Given the description of an element on the screen output the (x, y) to click on. 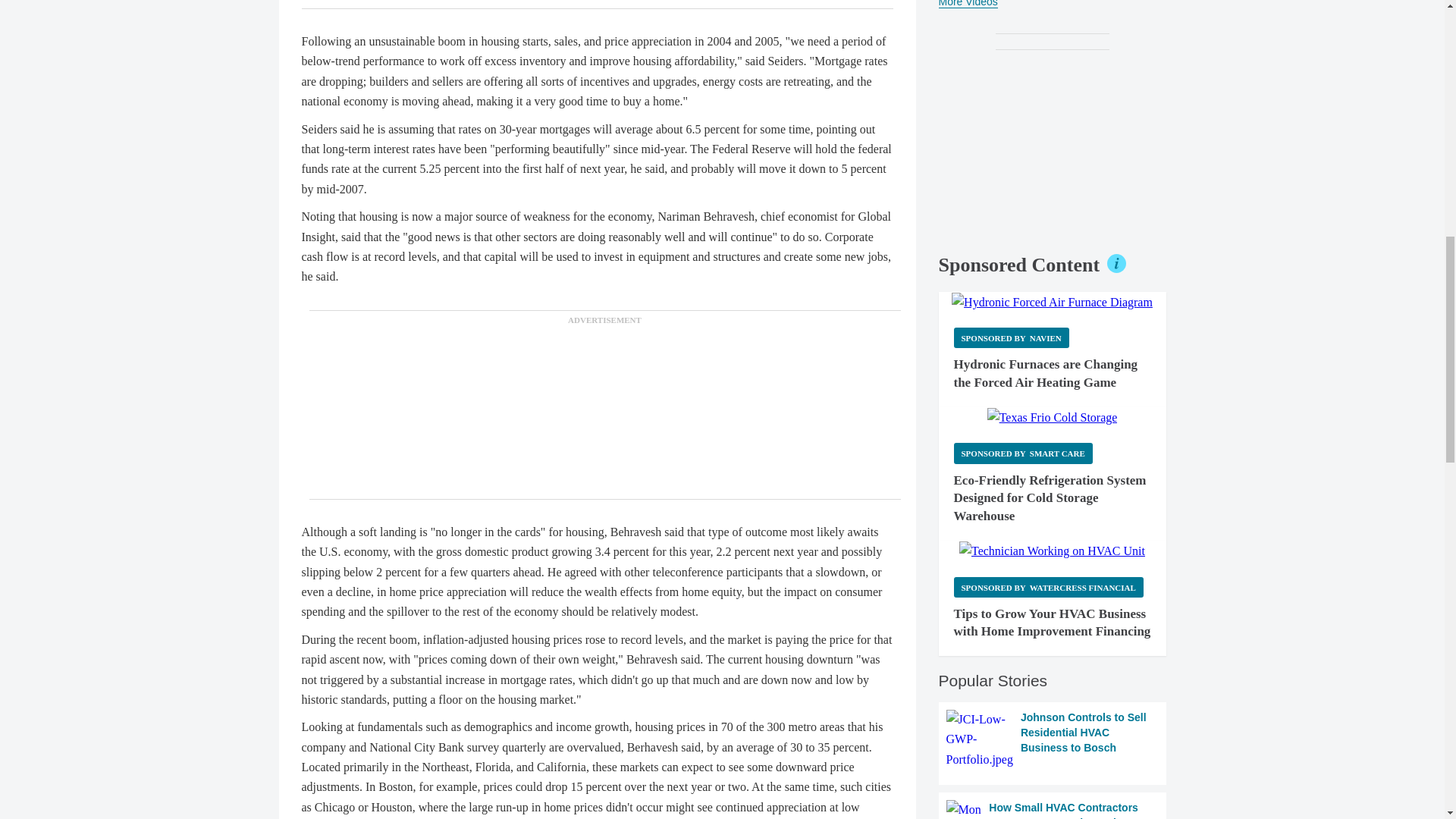
Technician Working on HVAC Unit (1051, 551)
Texas Frio Cold Storage (1052, 417)
Johnson Controls to Sell Residential HVAC Business to Bosch (1052, 739)
Sponsored by Navien (1010, 337)
Hydronic Forced Air Furnace Diagram (1052, 302)
Sponsored by Watercress Financial (1047, 586)
Sponsored by Smart Care (1023, 453)
